Given the description of an element on the screen output the (x, y) to click on. 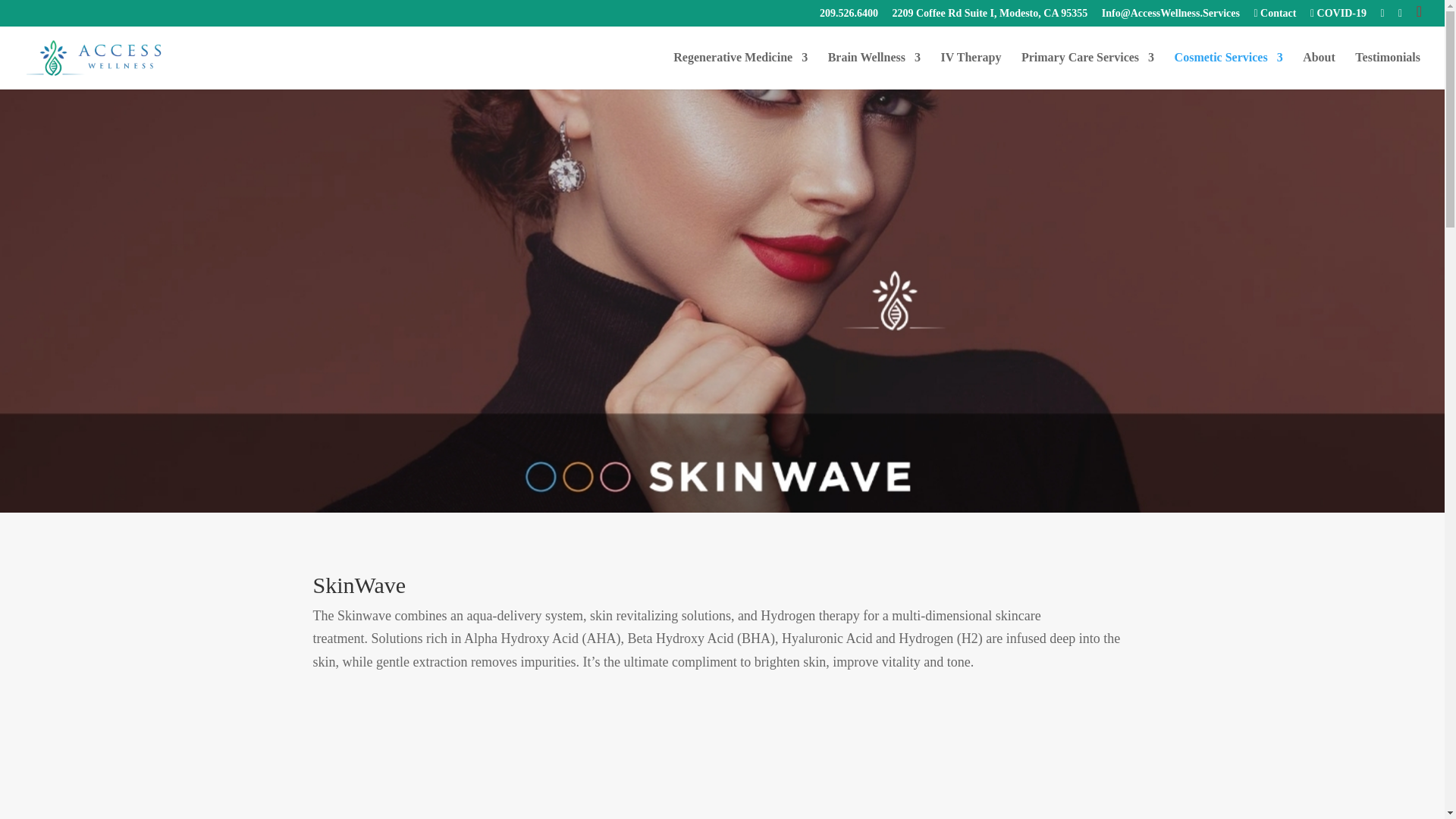
2209 Coffee Rd Suite I, Modesto, CA 95355 (989, 16)
Aqua Solution S1 Med Res V3 (722, 765)
COVID-19 (1338, 16)
209.526.6400 (848, 16)
IV Therapy (970, 69)
Primary Care Services (1088, 69)
Regenerative Medicine (740, 69)
Brain Wellness (874, 69)
Cosmetic Services (1228, 69)
Contact (1274, 16)
